Given the description of an element on the screen output the (x, y) to click on. 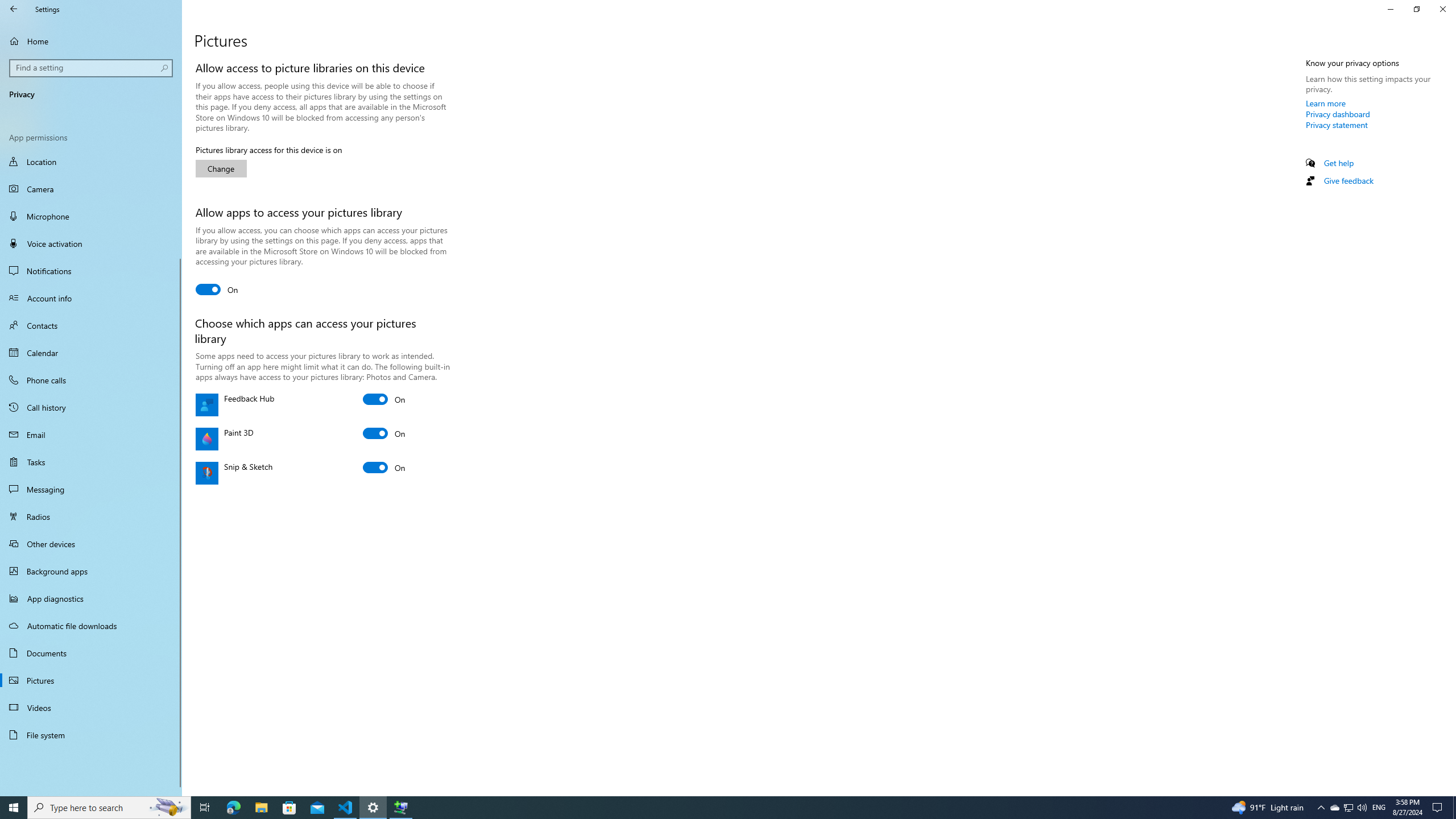
Account info (91, 298)
Documents (91, 652)
Feedback Hub (384, 398)
Tasks (91, 461)
Search box, Find a setting (91, 67)
Phone calls (91, 379)
Other devices (91, 543)
Notifications (91, 270)
App diagnostics (91, 597)
